Given the description of an element on the screen output the (x, y) to click on. 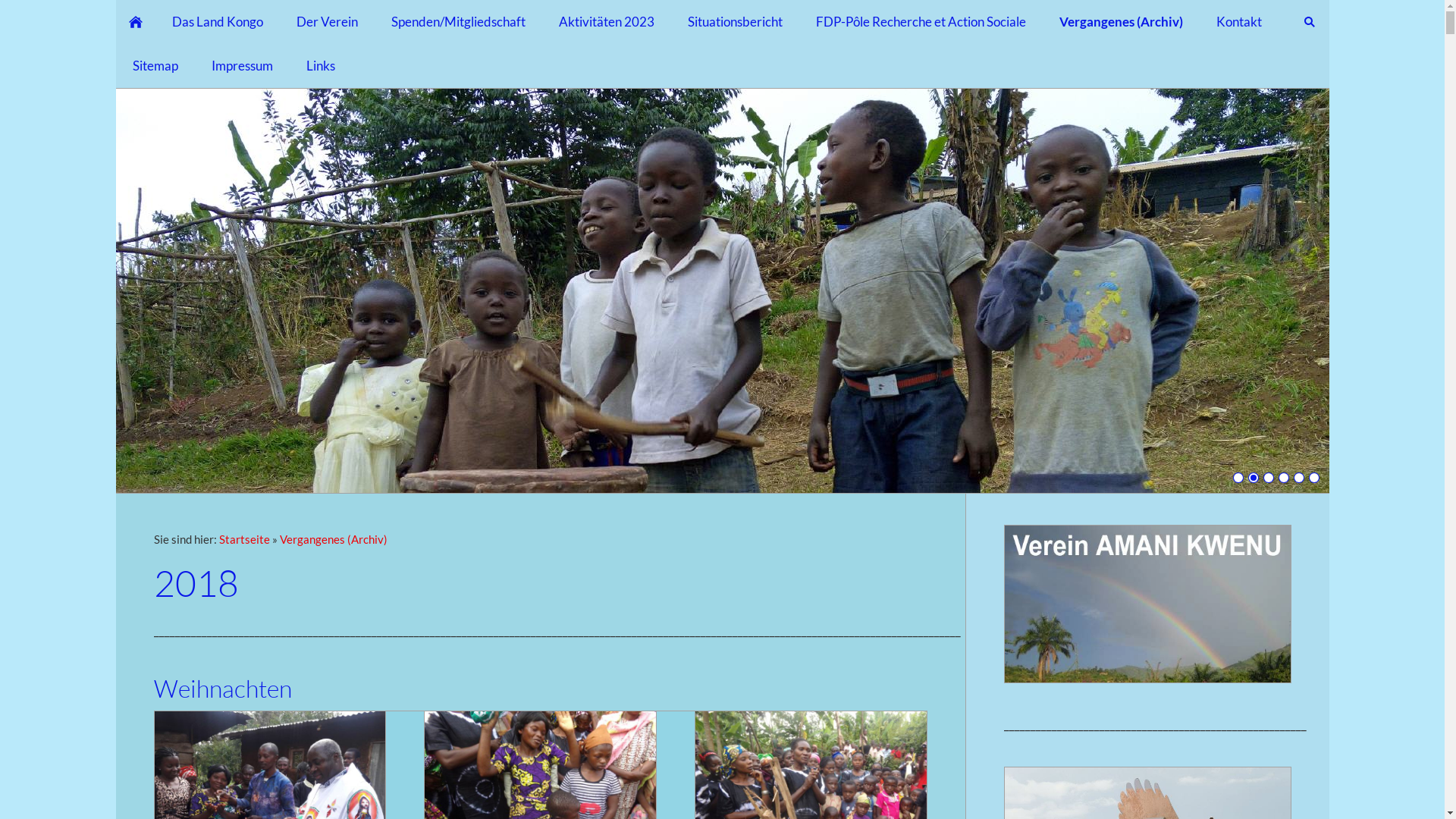
Impressum Element type: text (241, 65)
Das Land Kongo Element type: text (216, 21)
Kontakt Element type: text (1238, 21)
Startseite Element type: text (243, 539)
Vergangenes (Archiv) Element type: text (1119, 21)
Der Verein Element type: text (326, 21)
Links Element type: text (320, 65)
Situationsbericht Element type: text (734, 21)
Sitemap Element type: text (154, 65)
Spenden/Mitgliedschaft Element type: text (458, 21)
Vergangenes (Archiv) Element type: text (332, 539)
